Given the description of an element on the screen output the (x, y) to click on. 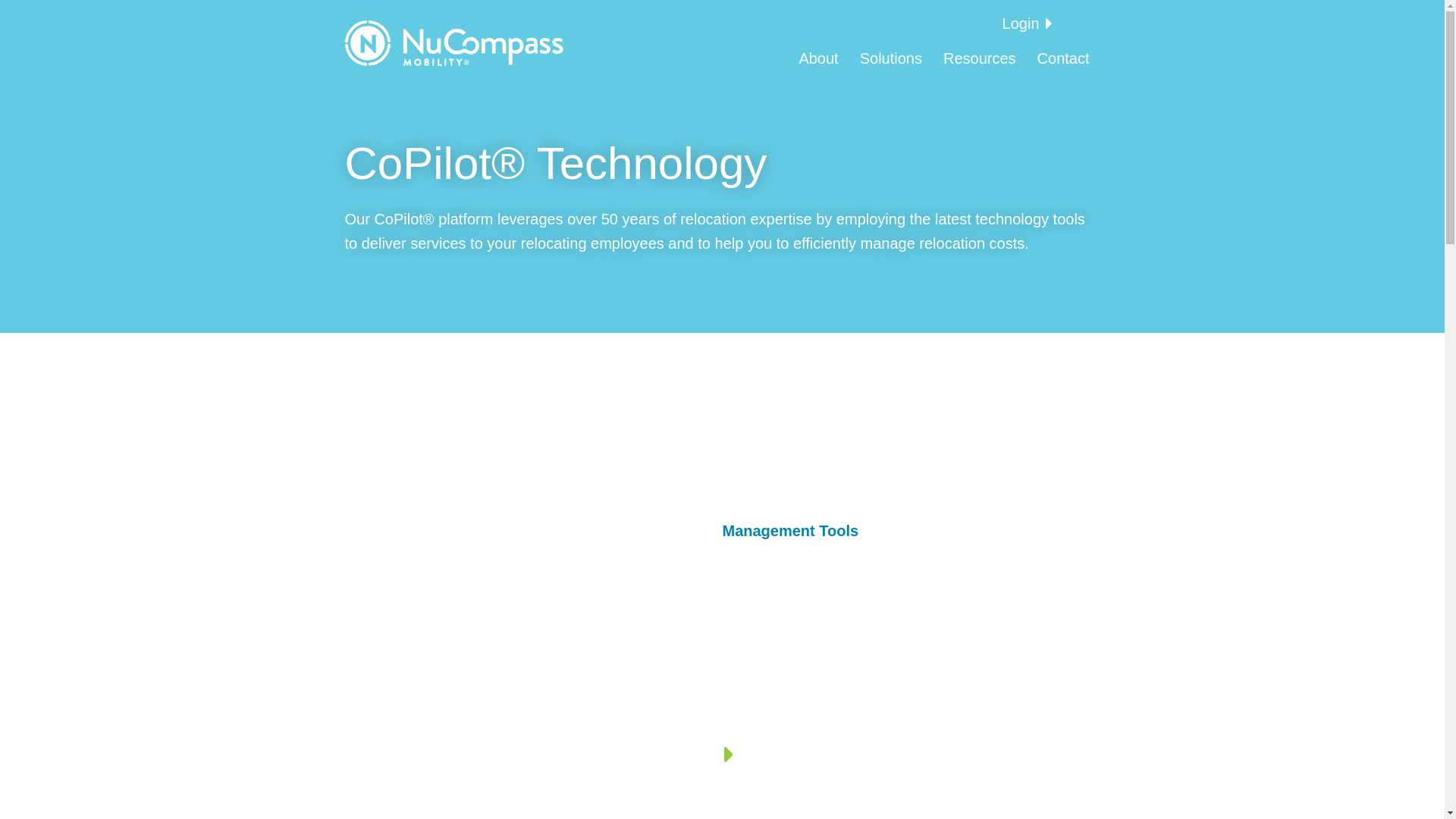
About (817, 58)
Search (45, 15)
Resources (979, 58)
Solutions (890, 58)
Home (452, 43)
Contact (1063, 58)
